Given the description of an element on the screen output the (x, y) to click on. 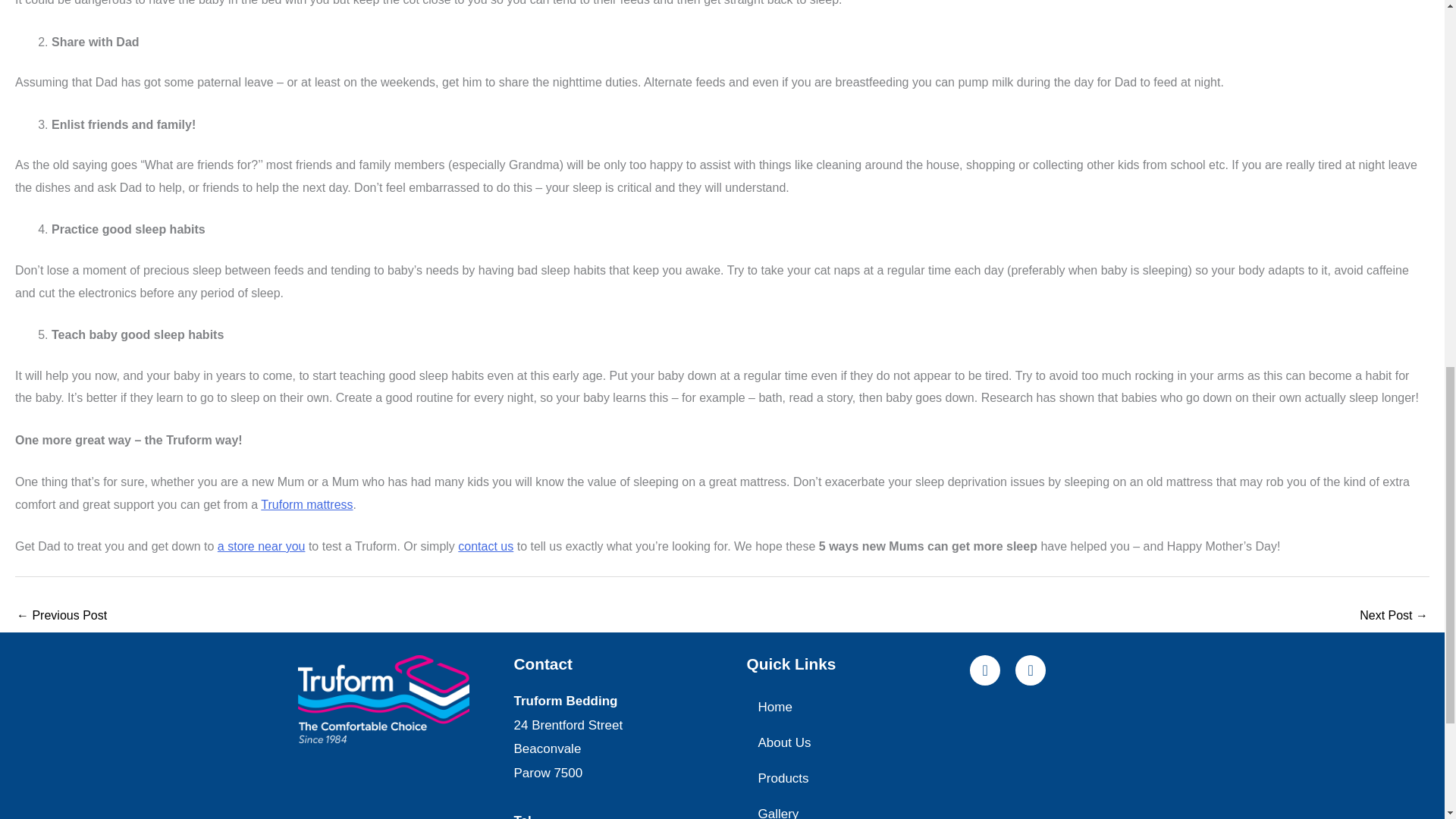
a store near you (260, 545)
Facebook-f (984, 670)
Home (850, 706)
contact us (485, 545)
About Us (850, 742)
Truform mattress (306, 504)
Products (850, 778)
Envelope (1029, 670)
Gallery (850, 807)
